Given the description of an element on the screen output the (x, y) to click on. 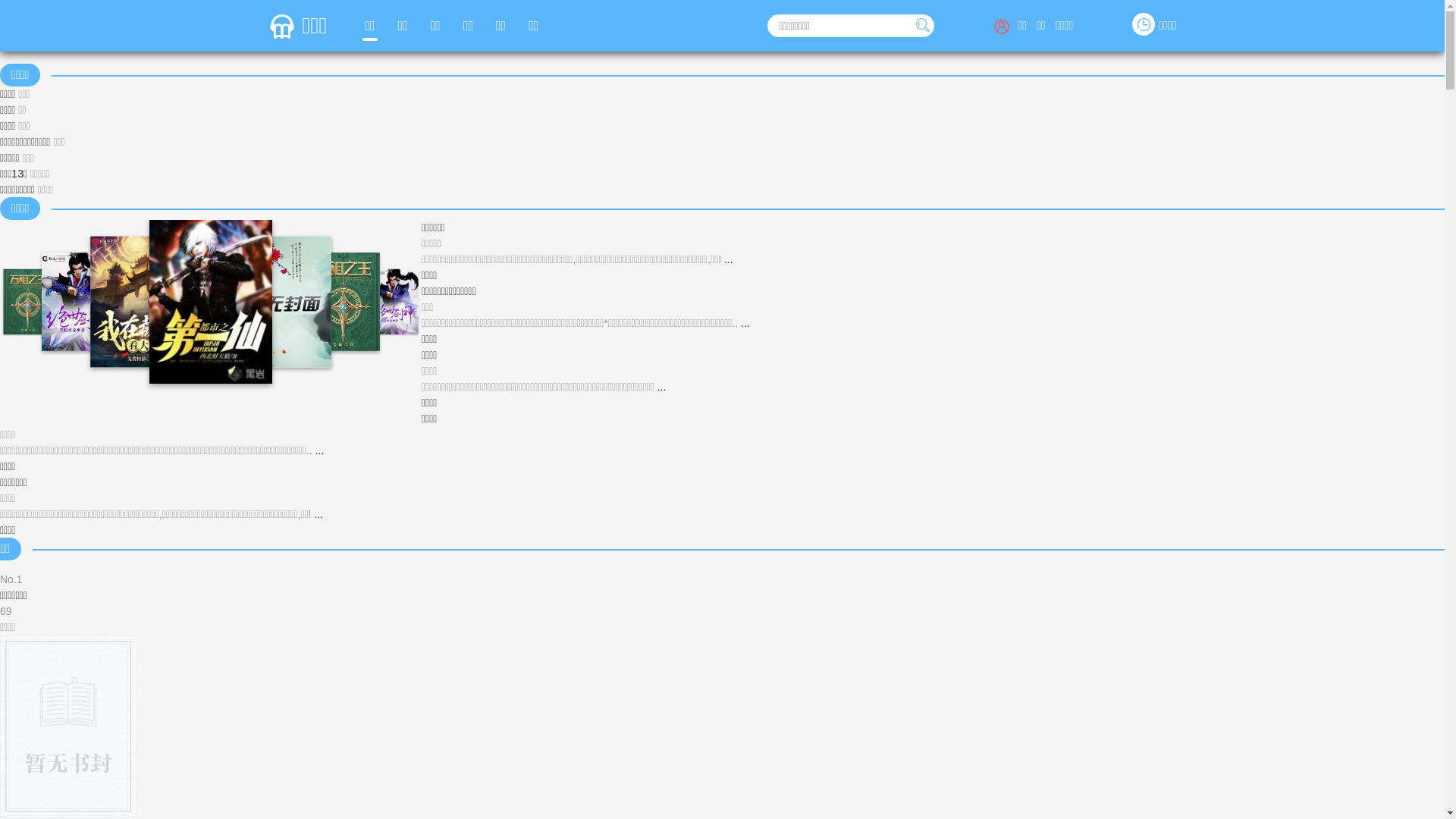
... Element type: text (744, 322)
... Element type: text (319, 450)
... Element type: text (728, 259)
... Element type: text (318, 514)
... Element type: text (661, 386)
